Given the description of an element on the screen output the (x, y) to click on. 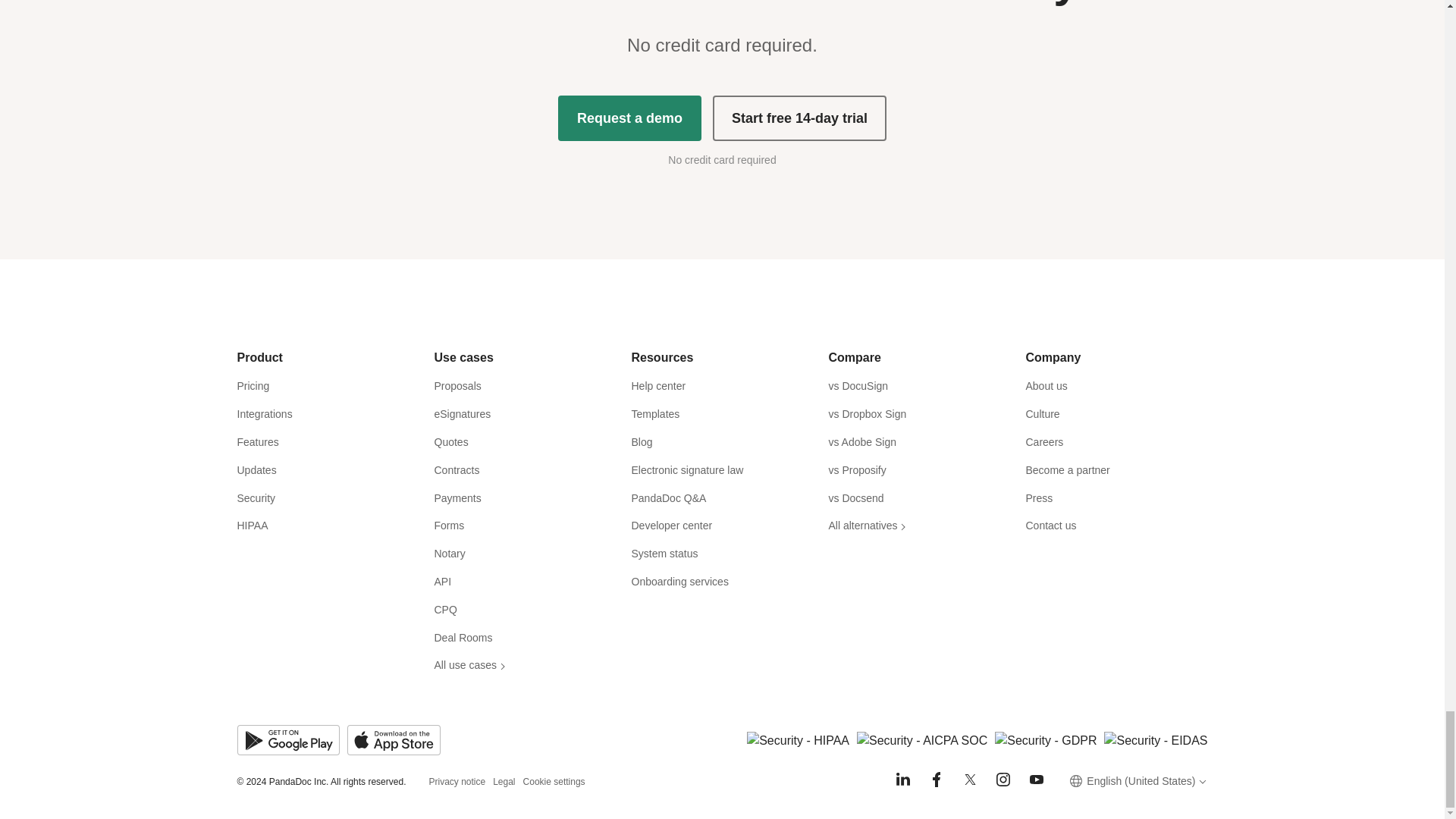
Youtube (1036, 779)
Twitter (969, 779)
LinkedIn (902, 779)
Instagram (1002, 779)
Facebook (935, 779)
